Given the description of an element on the screen output the (x, y) to click on. 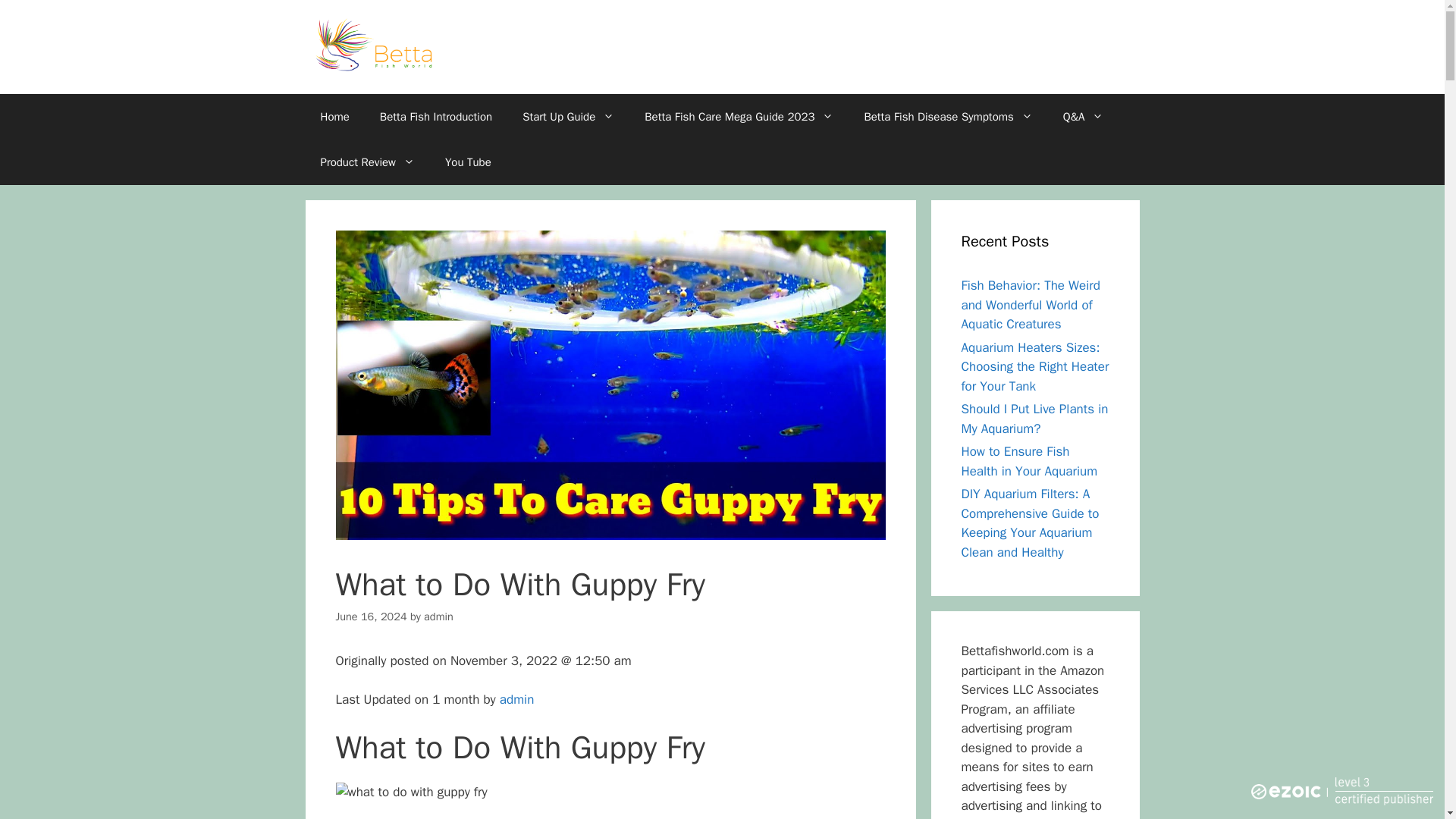
Betta Fish Introduction (435, 116)
admin (437, 616)
Product Review (366, 162)
You Tube (467, 162)
Home (334, 116)
Betta Fish Care Mega Guide 2023 (738, 116)
View all posts by admin (437, 616)
admin (516, 699)
Start Up Guide (567, 116)
Betta Fish Disease Symptoms (947, 116)
